Given the description of an element on the screen output the (x, y) to click on. 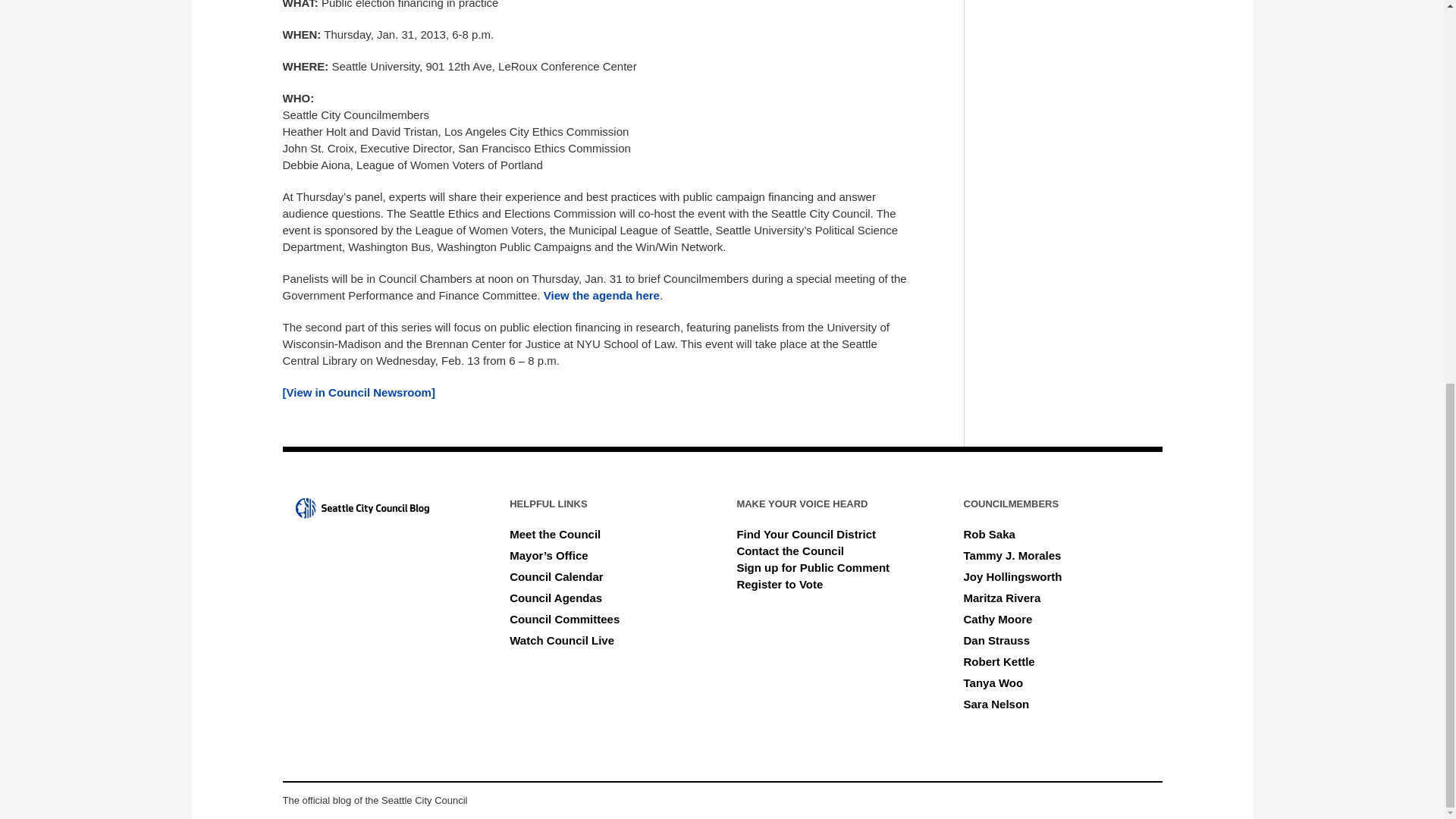
Meet the Council (554, 533)
Register to Vote (779, 584)
Rob Saka (988, 533)
Council Committees (564, 618)
View the agenda here (601, 295)
Tammy J. Morales (1012, 554)
Sign up for Public Comment (812, 567)
Contact the Council (790, 550)
Council Calendar (555, 576)
Find Your Council District (806, 533)
Watch Council Live (561, 640)
Council Agendas (555, 597)
